Given the description of an element on the screen output the (x, y) to click on. 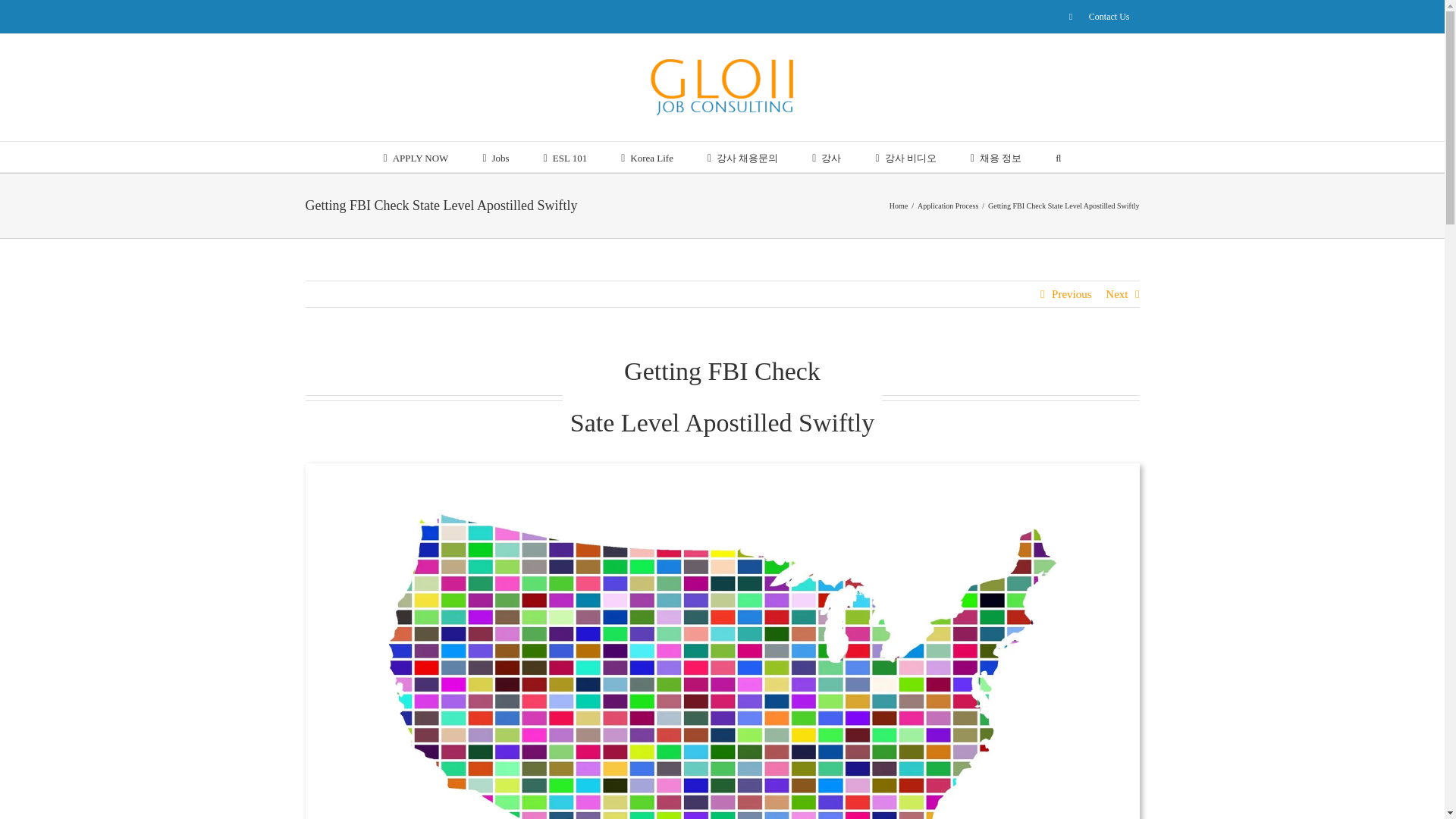
Jobs (494, 156)
Previous (1071, 294)
Search (1058, 156)
Application Process (947, 205)
Korea Life (646, 156)
ESL 101 (565, 156)
Home (898, 205)
Contact Us (1099, 16)
Next (1115, 294)
APPLY NOW (416, 156)
